Given the description of an element on the screen output the (x, y) to click on. 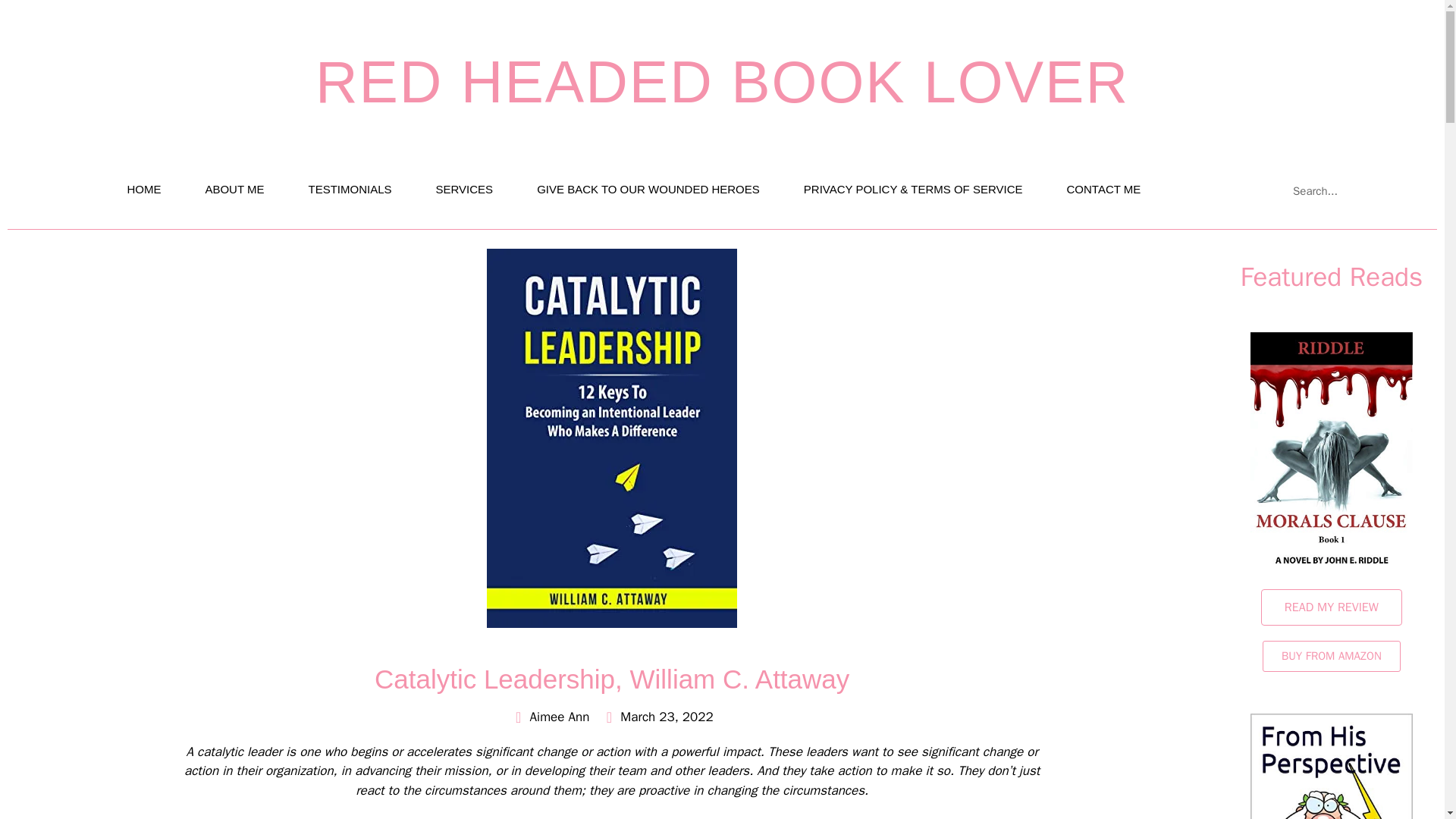
GIVE BACK TO OUR WOUNDED HEROES (647, 189)
CONTACT ME (1103, 189)
March 23, 2022 (657, 717)
HOME (144, 189)
TESTIMONIALS (349, 189)
ABOUT ME (234, 189)
SERVICES (464, 189)
RED HEADED BOOK LOVER (722, 81)
Aimee Ann (550, 717)
